Given the description of an element on the screen output the (x, y) to click on. 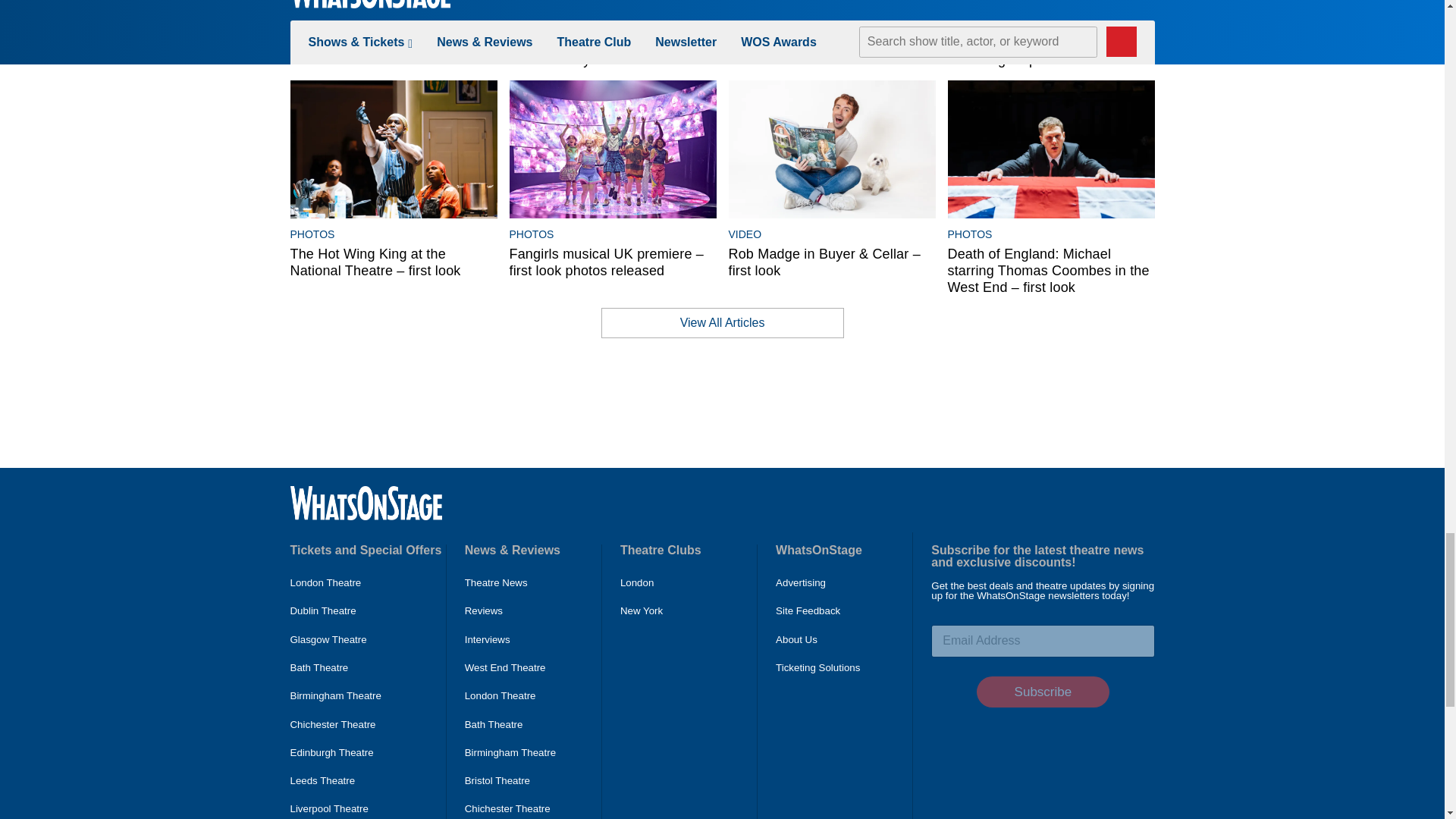
3rd party ad content (721, 402)
